Given the description of an element on the screen output the (x, y) to click on. 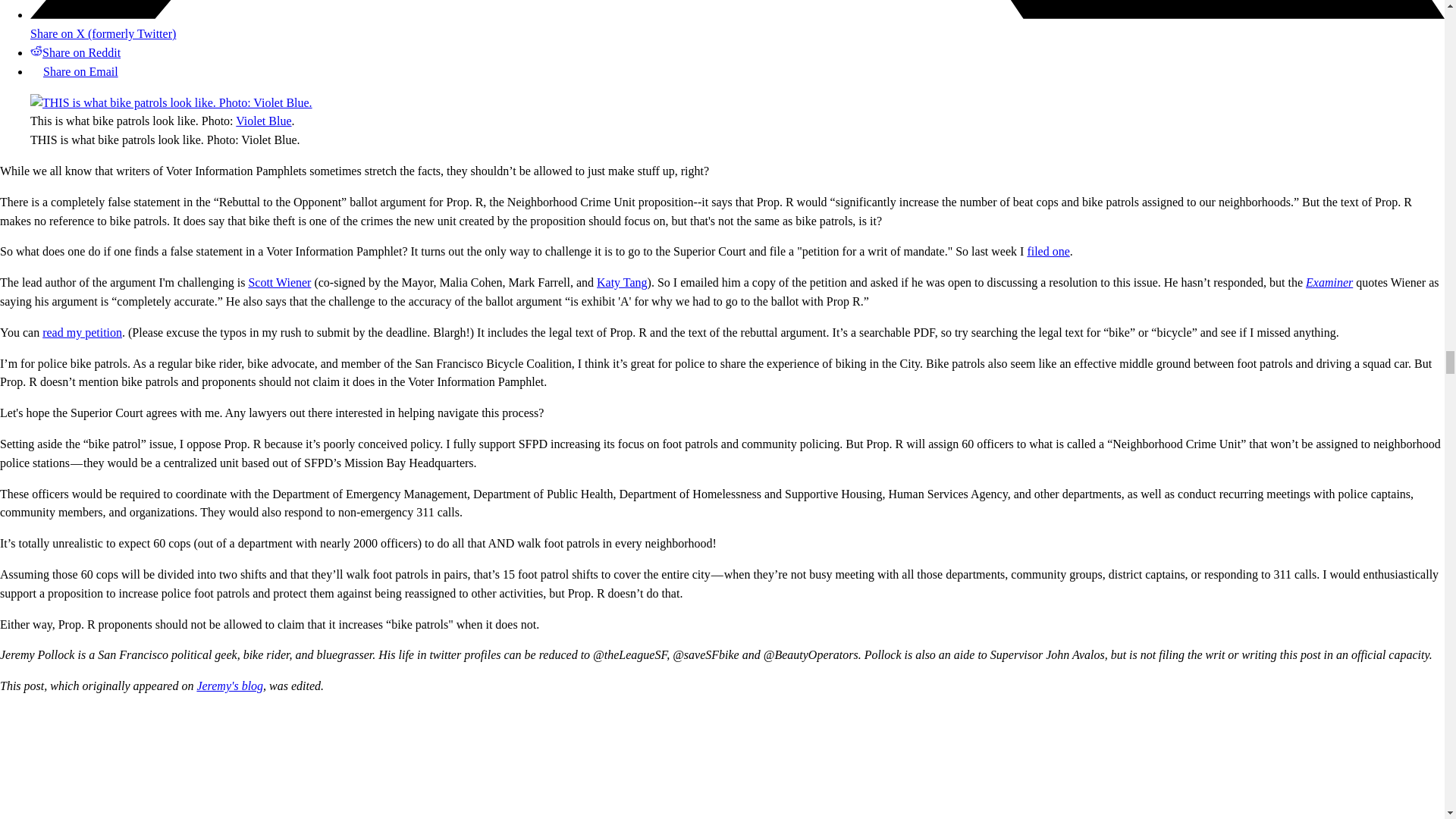
Share on Reddit (75, 51)
filed one (1047, 250)
Examiner (1329, 282)
read my petition (82, 332)
Jeremy's blog (229, 685)
Katy Tang (621, 282)
Violet Blue (263, 120)
Share on Email (73, 71)
Scott Wiener (279, 282)
